Given the description of an element on the screen output the (x, y) to click on. 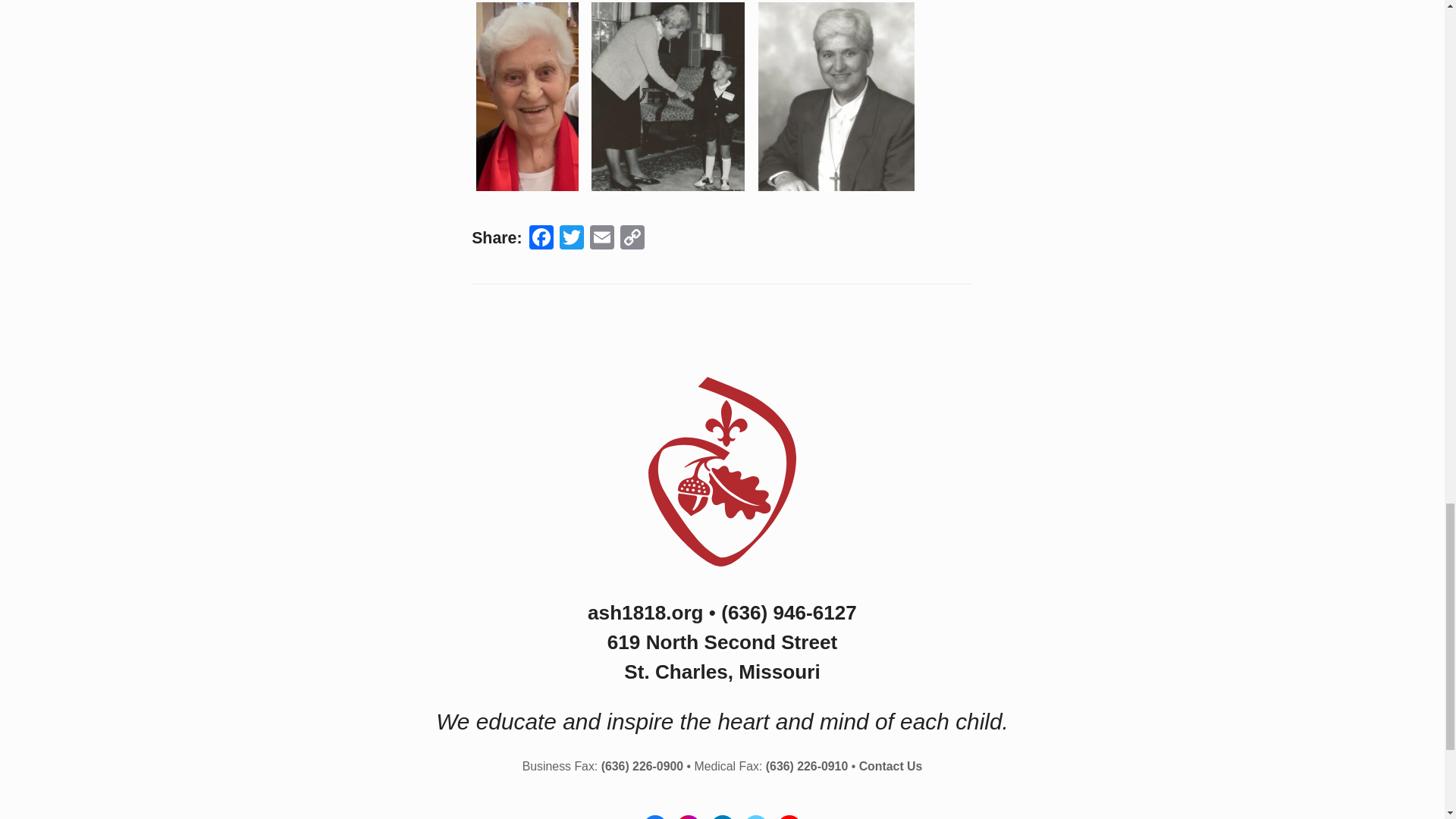
Copy Link (632, 239)
Academy of the Sacred Heart (721, 575)
Twitter (571, 239)
Email (601, 239)
Business Fax (641, 766)
Medical Fax (806, 766)
Facebook (540, 239)
Phone (788, 612)
